Given the description of an element on the screen output the (x, y) to click on. 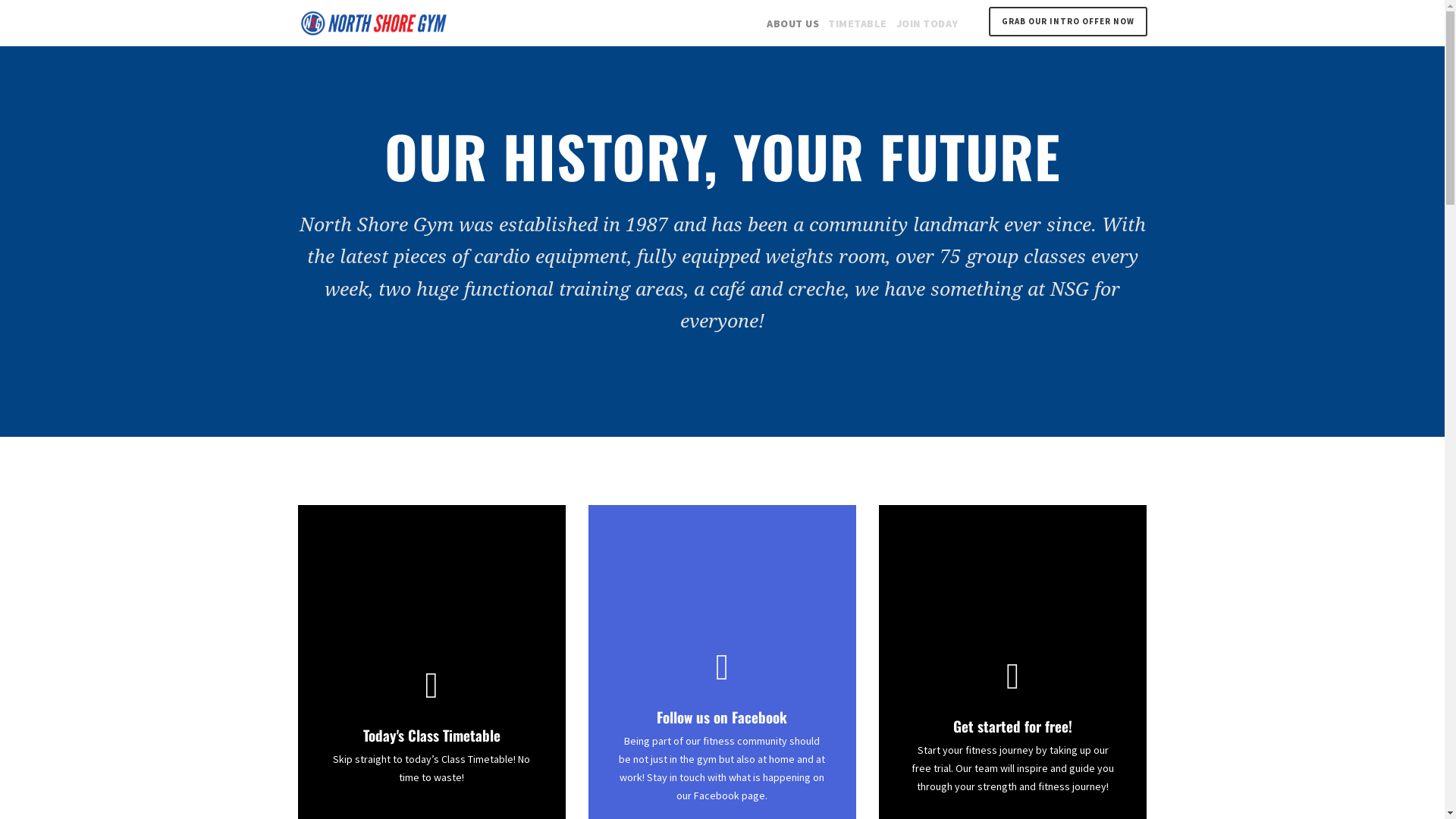
GRAB OUR INTRO OFFER NOW Element type: text (1067, 21)
TIMETABLE Element type: text (857, 24)
ABOUT US Element type: text (792, 24)
JOIN TODAY Element type: text (927, 24)
